Given the description of an element on the screen output the (x, y) to click on. 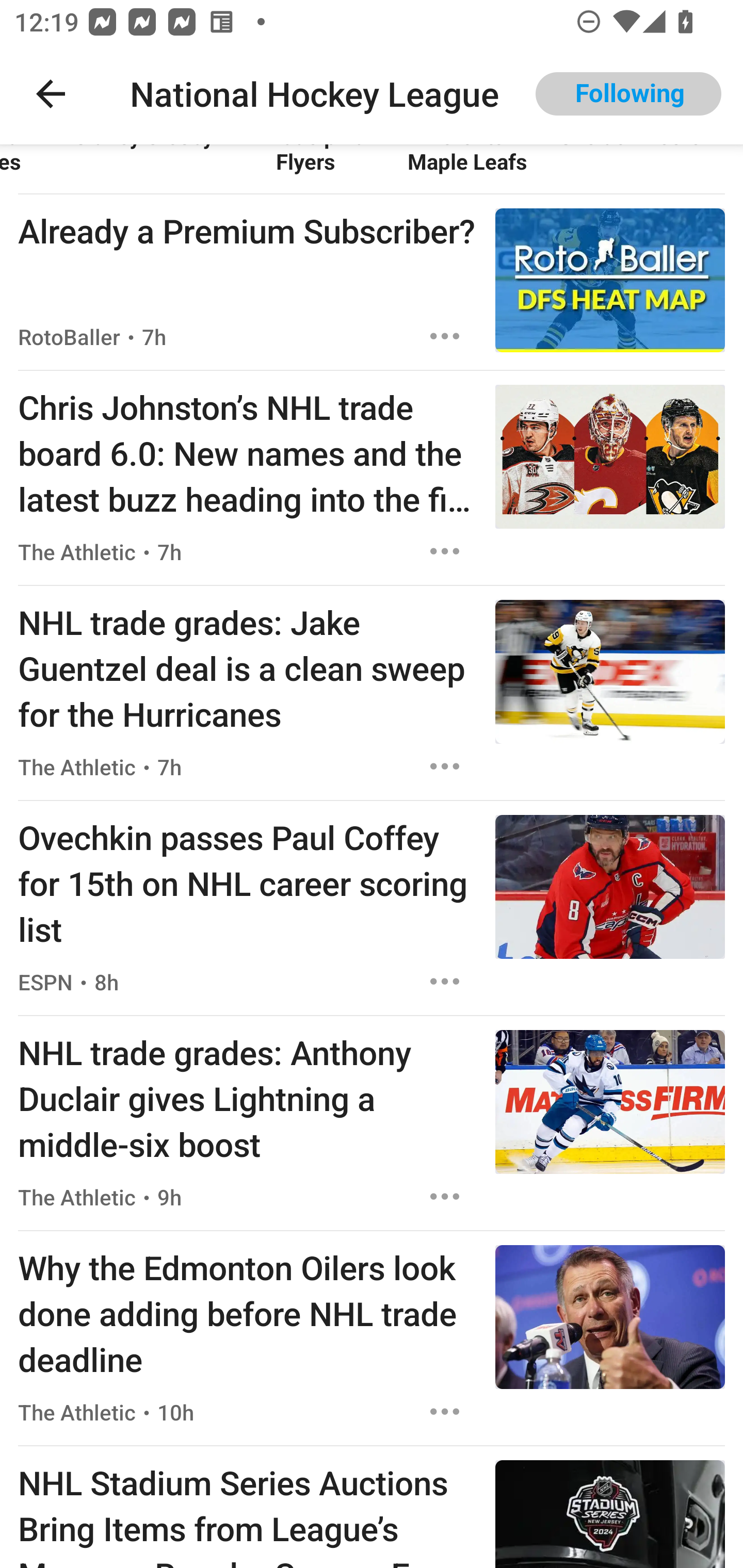
Navigate up (50, 93)
Following (628, 94)
Options (444, 336)
Options (444, 550)
Options (444, 766)
Options (444, 981)
Options (444, 1196)
Options (444, 1411)
